Given the description of an element on the screen output the (x, y) to click on. 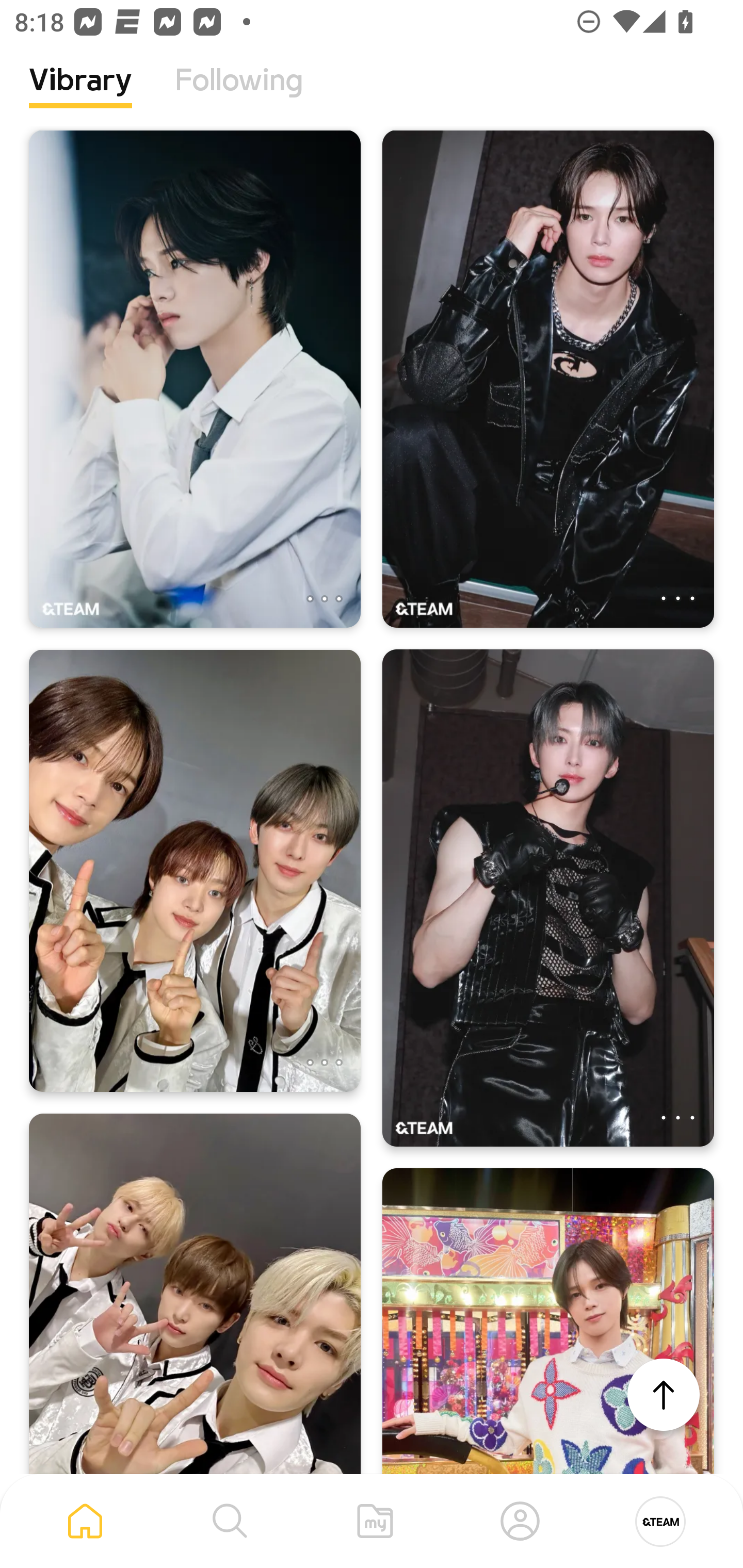
Vibrary (80, 95)
Following (239, 95)
